Given the description of an element on the screen output the (x, y) to click on. 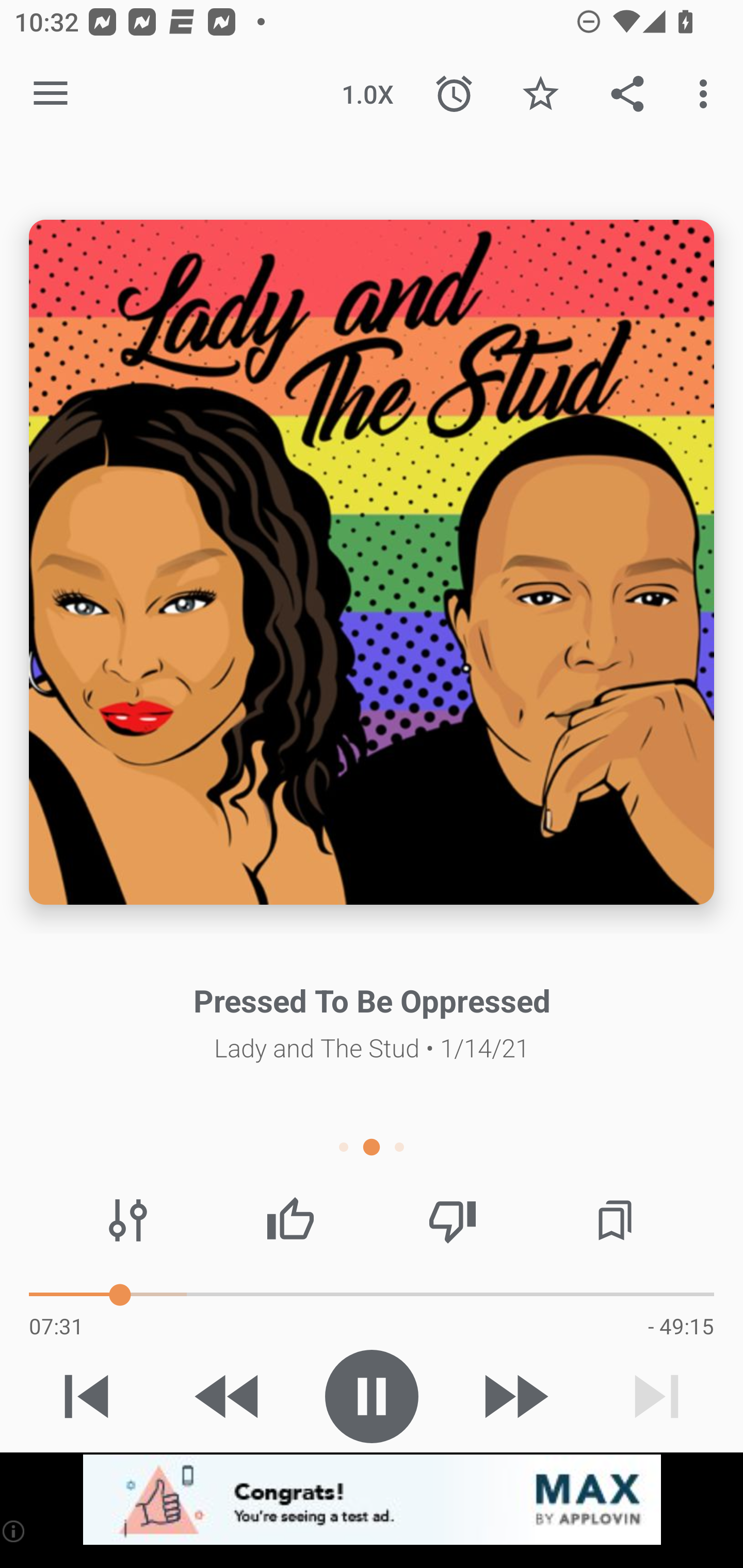
Open navigation sidebar (50, 93)
1.0X (366, 93)
Sleep Timer (453, 93)
Favorite (540, 93)
Share (626, 93)
More options (706, 93)
Episode description (371, 561)
Audio effects (127, 1220)
Thumbs up (290, 1220)
Thumbs down (452, 1220)
Chapters / Bookmarks (614, 1220)
- 49:15 (680, 1325)
Previous track (86, 1395)
Skip 15s backward (228, 1395)
Play / Pause (371, 1395)
Skip 30s forward (513, 1395)
Next track (656, 1395)
app-monetization (371, 1500)
(i) (14, 1531)
